Given the description of an element on the screen output the (x, y) to click on. 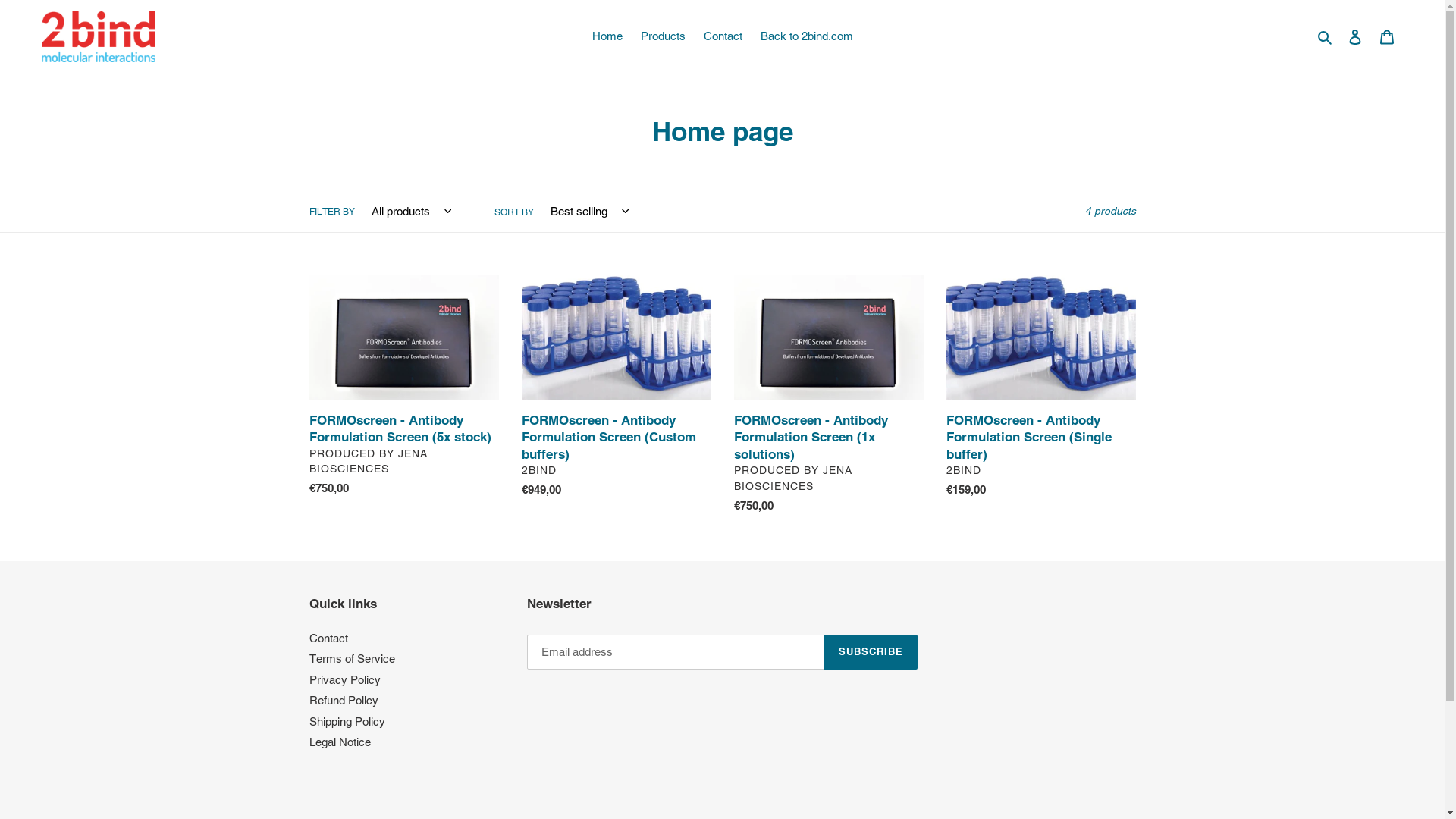
Terms of Service Element type: text (352, 658)
Home Element type: text (606, 36)
Products Element type: text (662, 36)
Privacy Policy Element type: text (344, 679)
Contact Element type: text (328, 637)
Cart Element type: text (1386, 36)
Refund Policy Element type: text (343, 699)
Legal Notice Element type: text (339, 741)
SUBSCRIBE Element type: text (870, 650)
FORMOscreen - Antibody Formulation Screen (5x stock) Element type: text (403, 388)
FORMOscreen - Antibody Formulation Screen (Custom buffers) Element type: text (616, 389)
Search Element type: text (1325, 36)
FORMOscreen - Antibody Formulation Screen (Single buffer) Element type: text (1040, 389)
Contact Element type: text (722, 36)
Back to 2bind.com Element type: text (805, 36)
FORMOscreen - Antibody Formulation Screen (1x solutions) Element type: text (828, 397)
Shipping Policy Element type: text (347, 721)
Log in Element type: text (1355, 36)
